Given the description of an element on the screen output the (x, y) to click on. 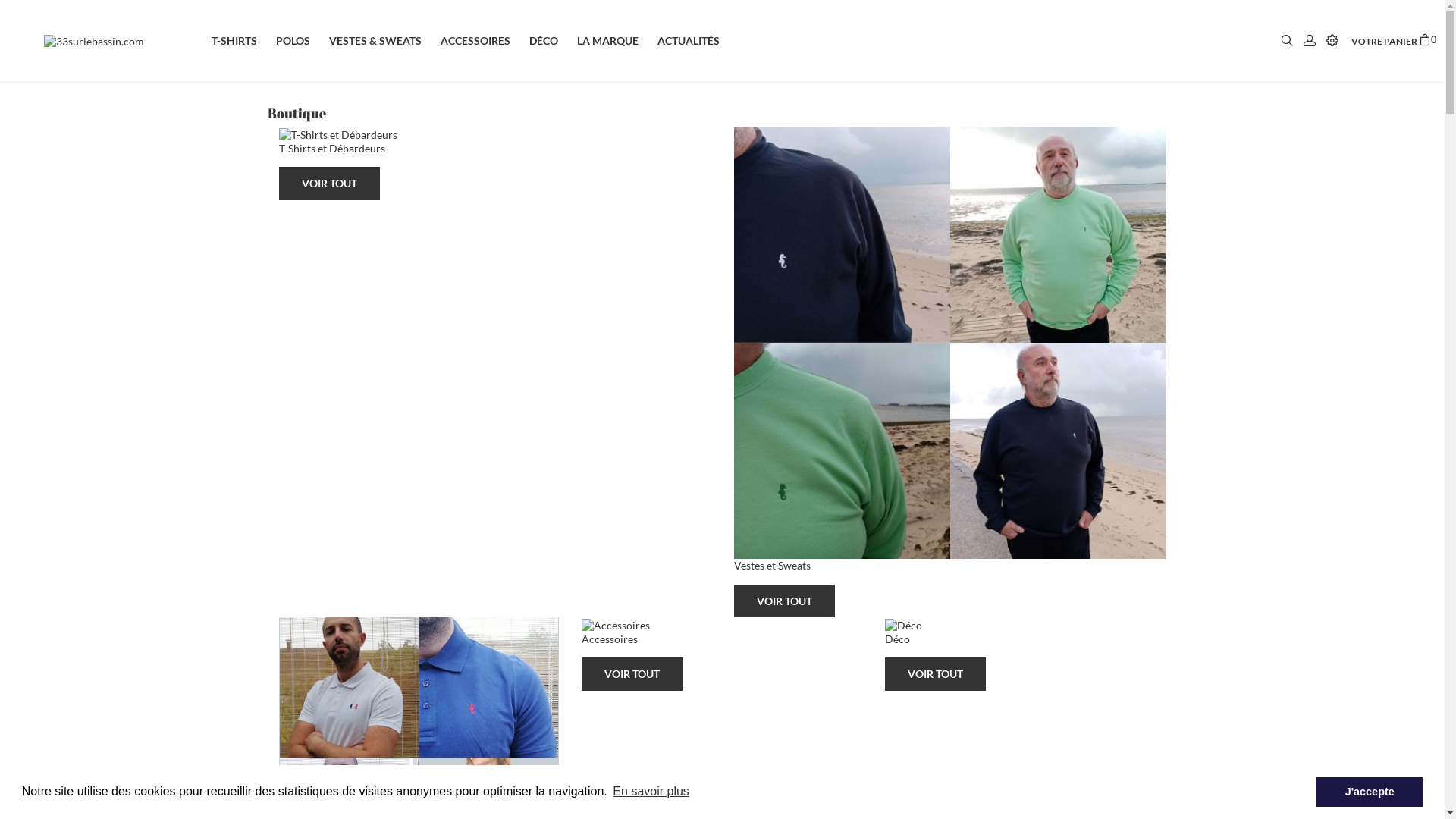
LA MARQUE Element type: text (617, 40)
VOIR TOUT Element type: text (631, 673)
T-SHIRTS Element type: text (243, 40)
ACCESSOIRES Element type: text (484, 40)
Accessoires Element type: text (721, 631)
VESTES & SWEATS Element type: text (384, 40)
POLOS Element type: text (302, 40)
VOIR TOUT Element type: text (934, 673)
VOIR TOUT Element type: text (784, 601)
Vestes et Sweats Element type: text (950, 349)
J'accepte Element type: text (1369, 791)
VOIR TOUT Element type: text (329, 183)
Compte Element type: hover (1309, 40)
En savoir plus Element type: text (650, 791)
